Given the description of an element on the screen output the (x, y) to click on. 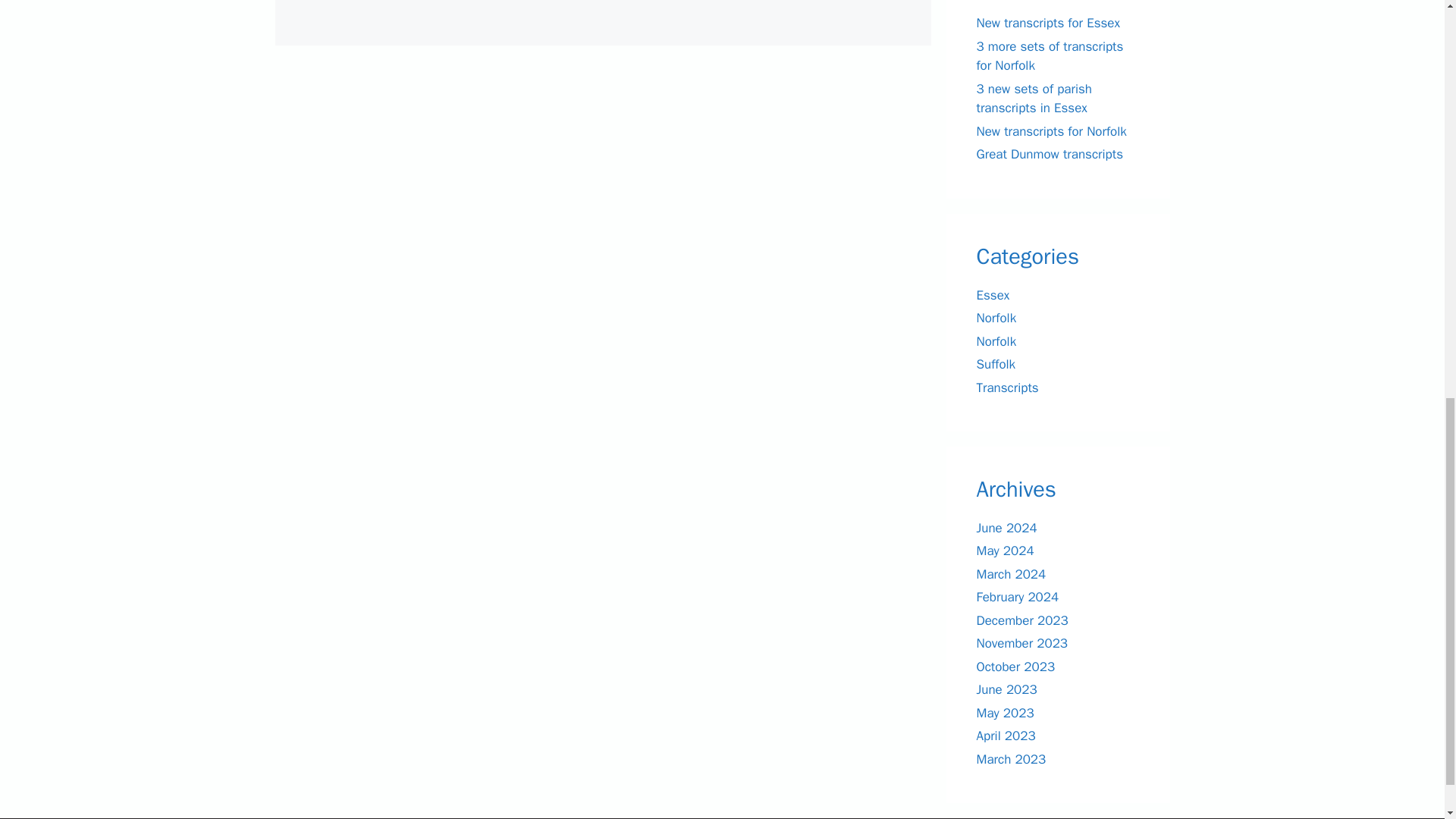
Like or Reblog (601, 7)
Scroll back to top (1406, 720)
